Given the description of an element on the screen output the (x, y) to click on. 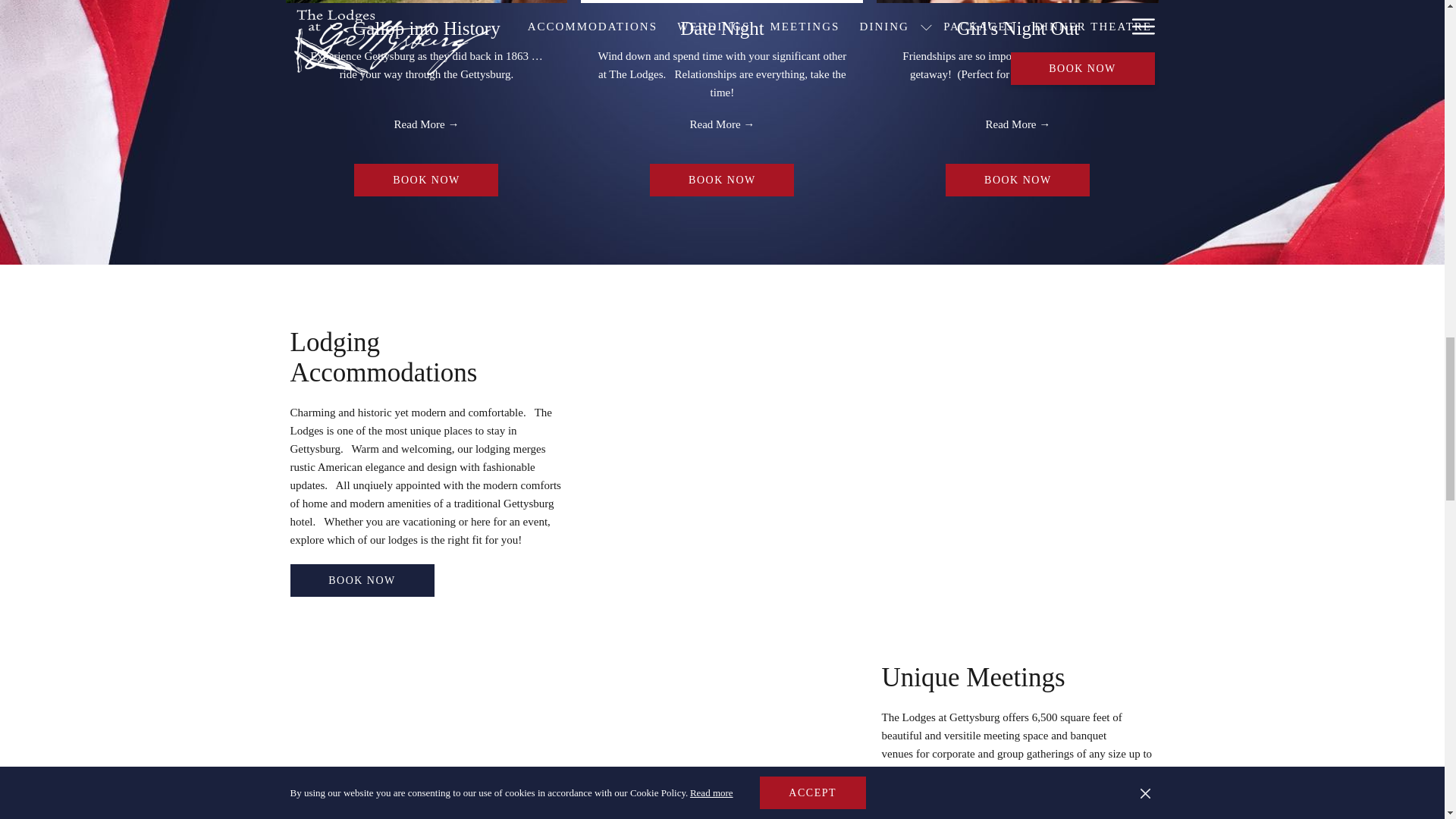
Read More (425, 124)
Gallop into History (425, 28)
